Given the description of an element on the screen output the (x, y) to click on. 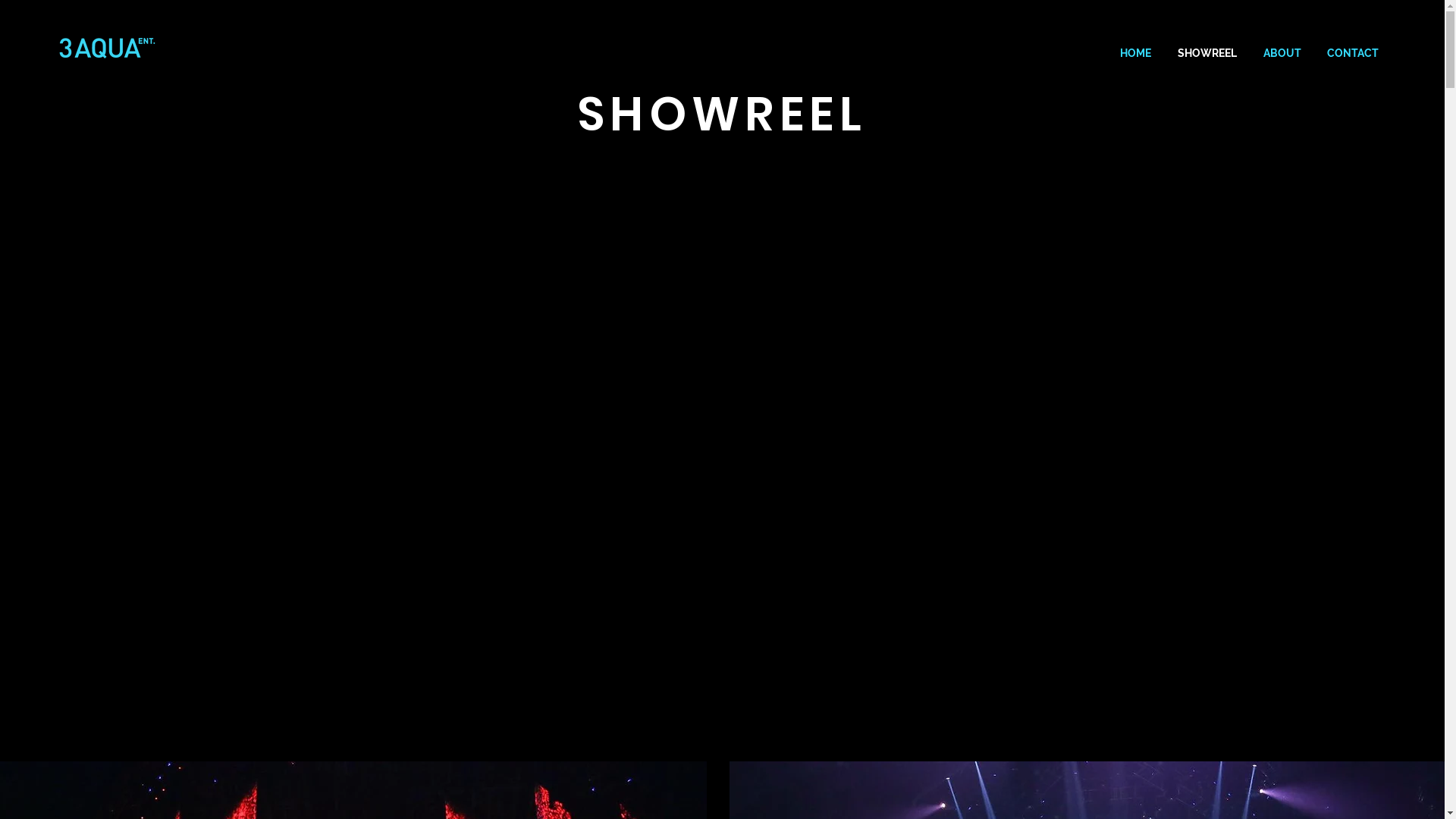
CONTACT Element type: text (1352, 53)
HOME Element type: text (1135, 53)
ABOUT Element type: text (1281, 53)
SHOWREEL Element type: text (1206, 53)
